Given the description of an element on the screen output the (x, y) to click on. 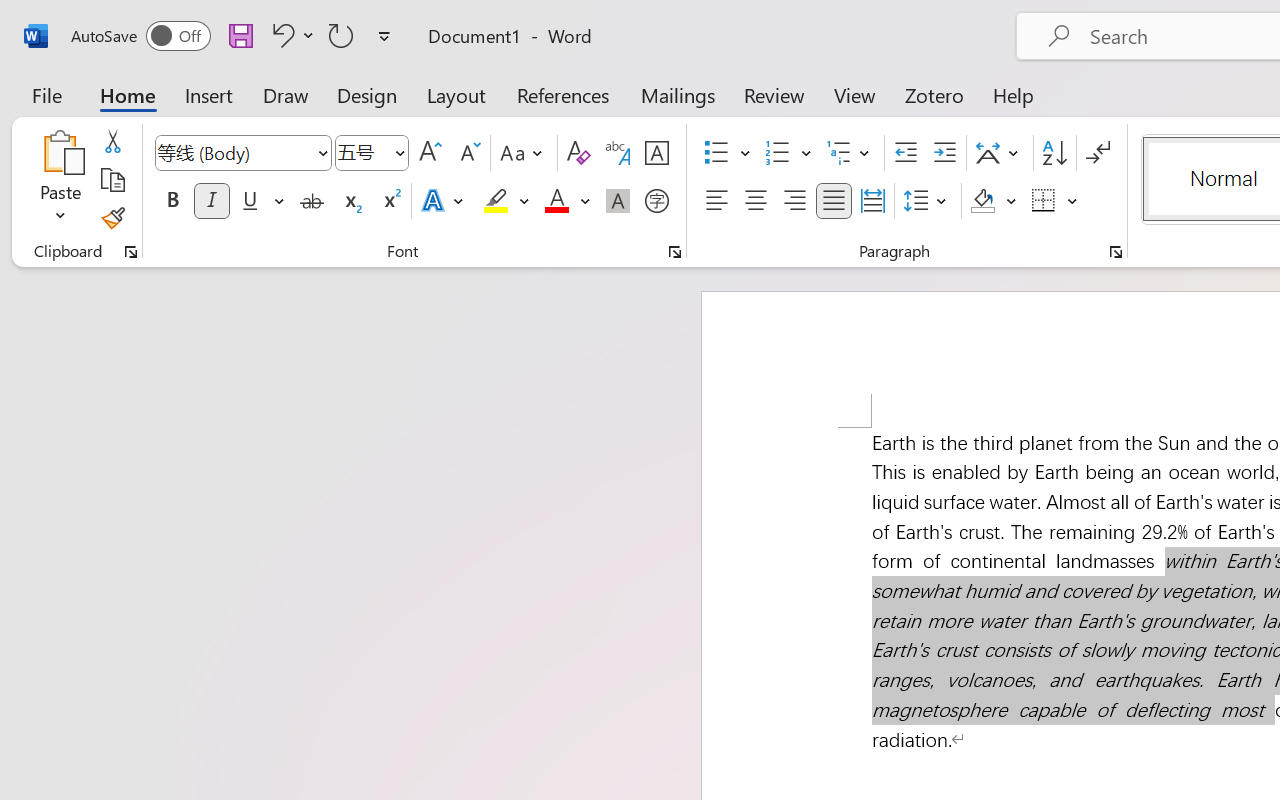
Font Color (567, 201)
Distributed (872, 201)
Text Highlight Color Yellow (495, 201)
Undo Italic (280, 35)
Subscript (350, 201)
Asian Layout (1000, 153)
Align Left (716, 201)
Phonetic Guide... (618, 153)
